Given the description of an element on the screen output the (x, y) to click on. 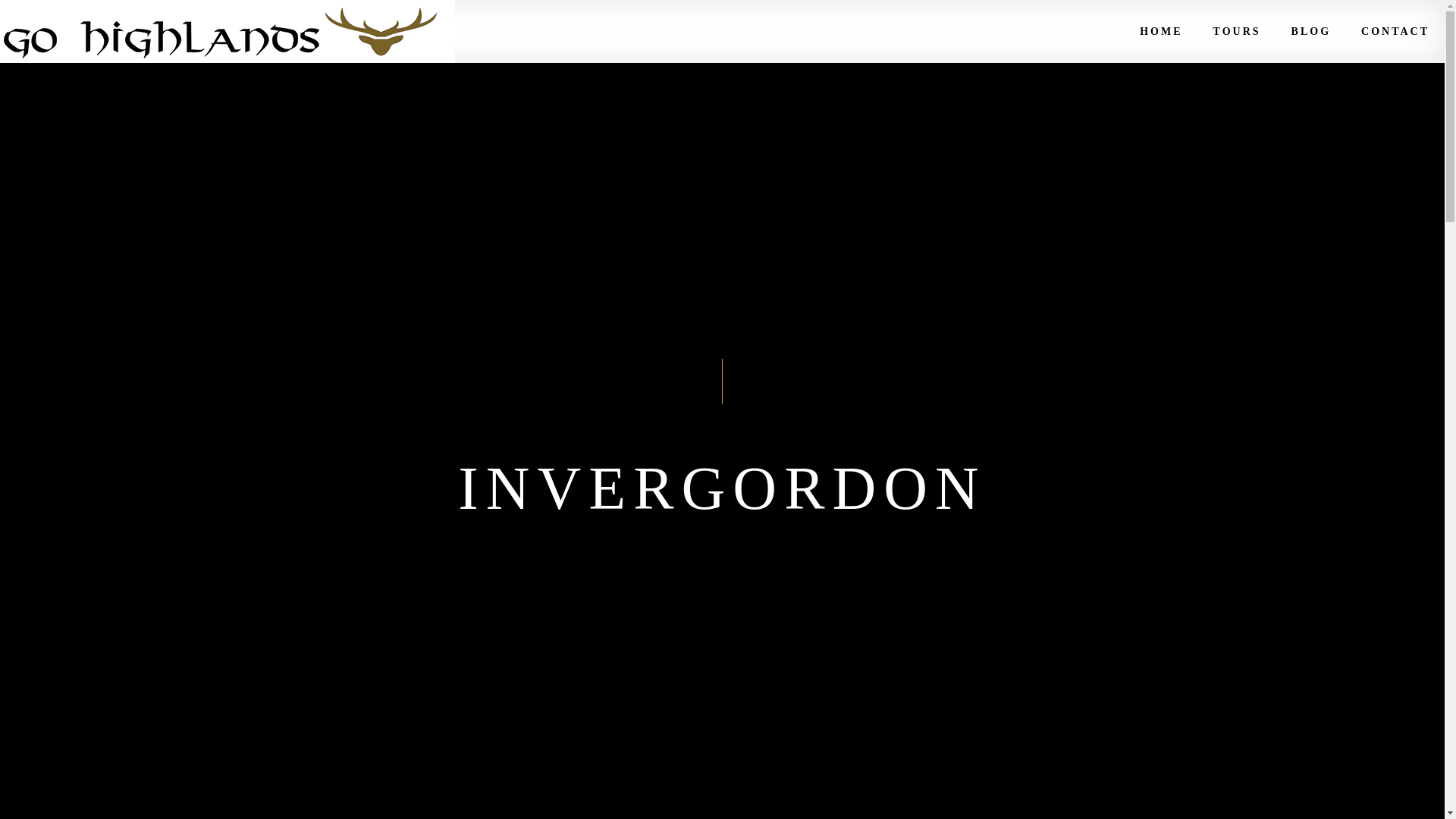
Go Highlands (227, 31)
BLOG (1310, 31)
Blog (1310, 31)
Tours (1237, 31)
Home (1160, 31)
HOME (1160, 31)
TOURS (1237, 31)
